Given the description of an element on the screen output the (x, y) to click on. 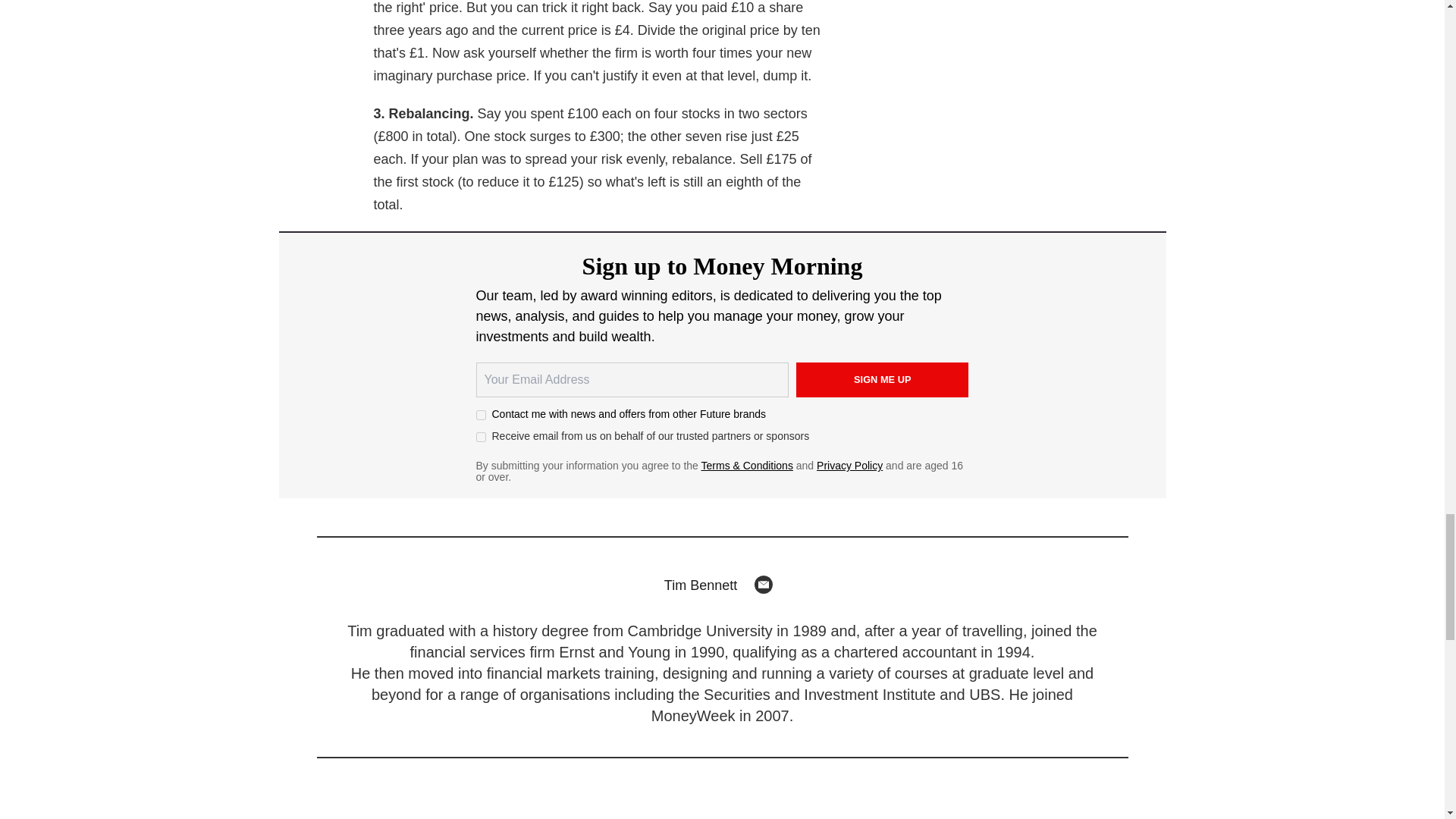
Sign me up (882, 379)
on (481, 415)
on (481, 437)
